Given the description of an element on the screen output the (x, y) to click on. 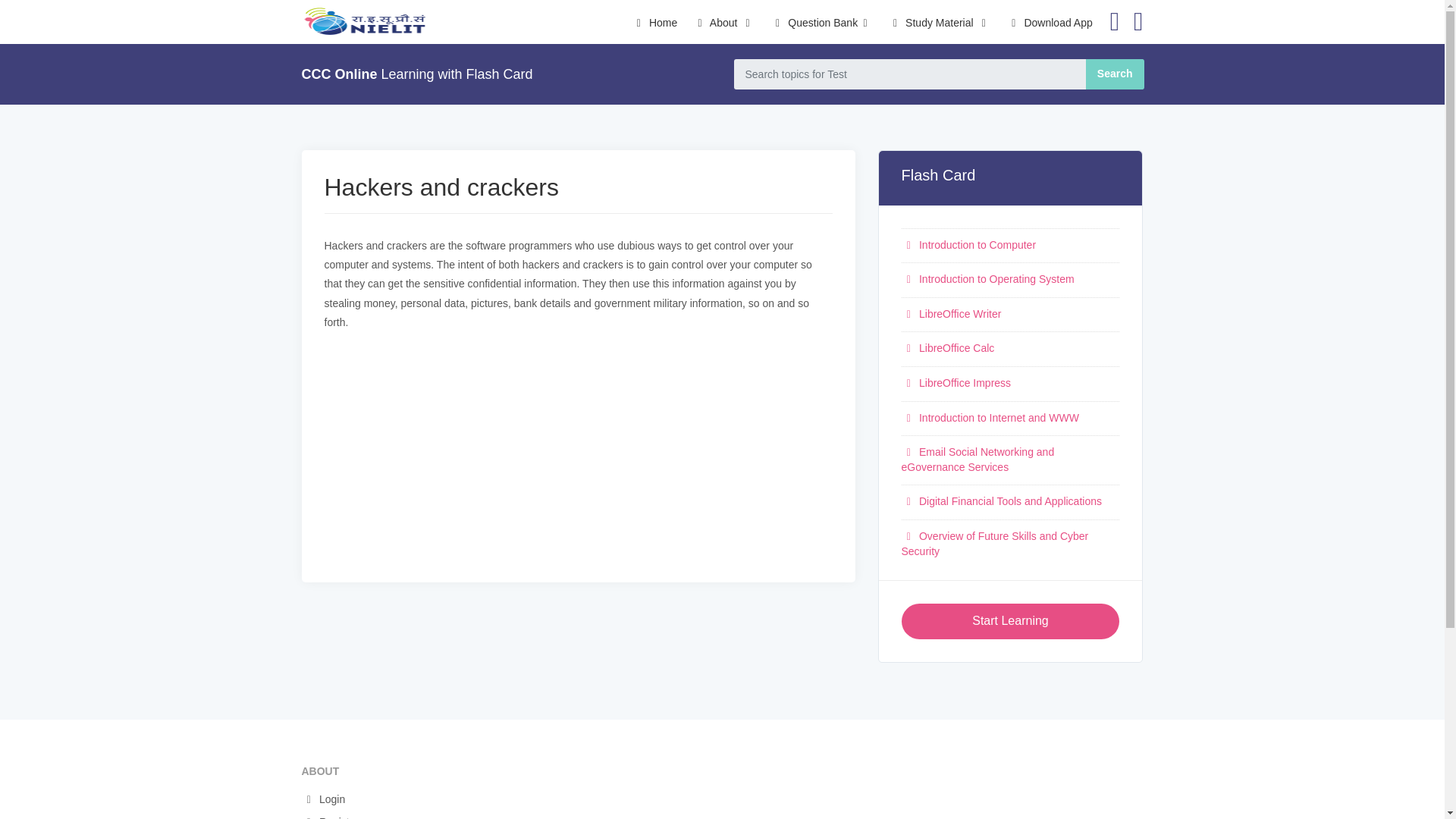
Search (1115, 73)
CCC Online Test (363, 21)
Email Social Networking and eGovernance Services (977, 459)
About (723, 29)
Introduction to Internet and WWW (989, 417)
Search (1115, 73)
Overview of Future Skills and Cyber Security (994, 543)
CCC Online Test (363, 21)
LibreOffice Writer (951, 313)
CCC Learning Methods (939, 29)
